Given the description of an element on the screen output the (x, y) to click on. 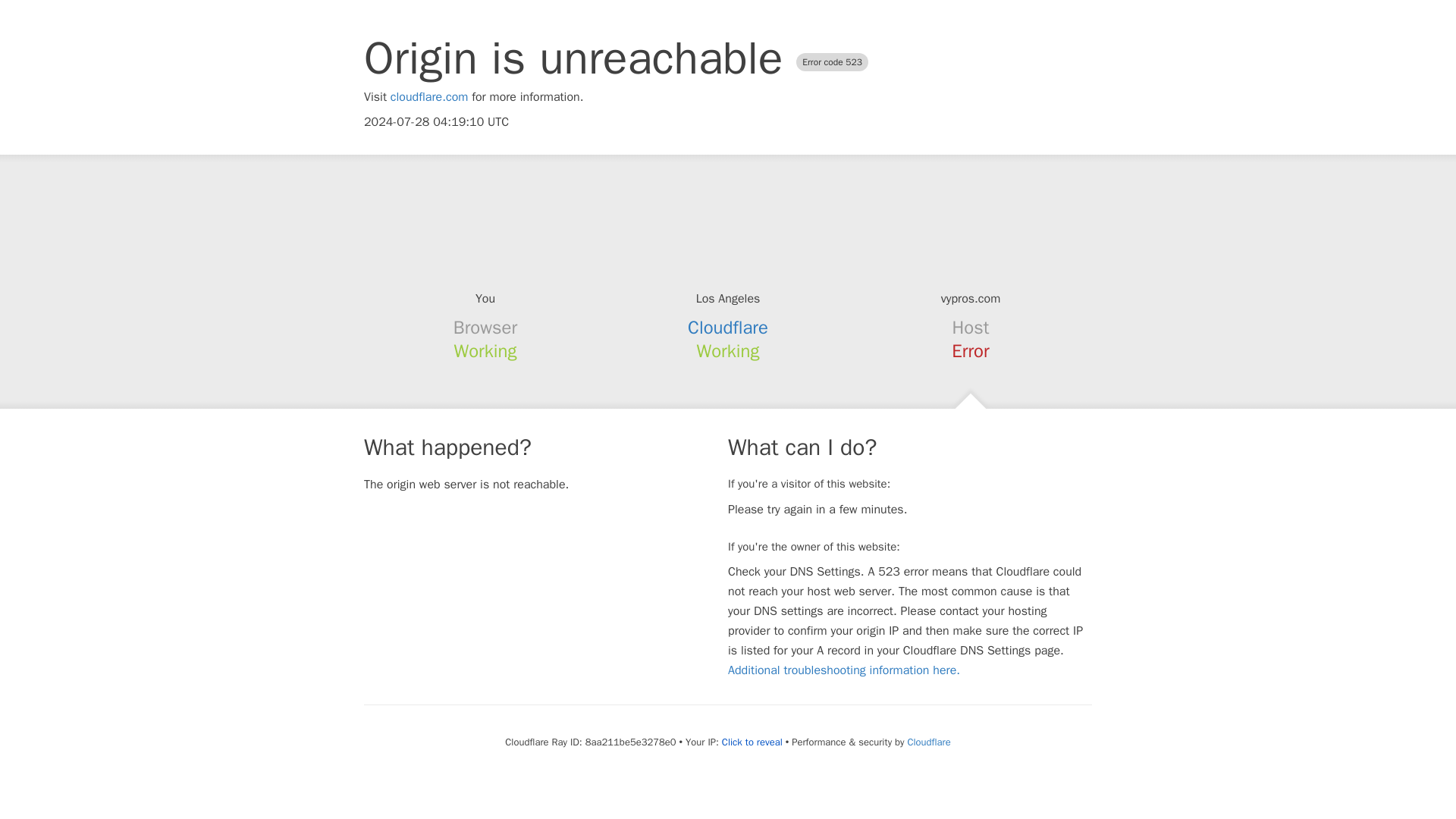
Additional troubleshooting information here. (843, 670)
Cloudflare (727, 327)
Cloudflare (928, 741)
Click to reveal (752, 742)
cloudflare.com (429, 96)
